Given the description of an element on the screen output the (x, y) to click on. 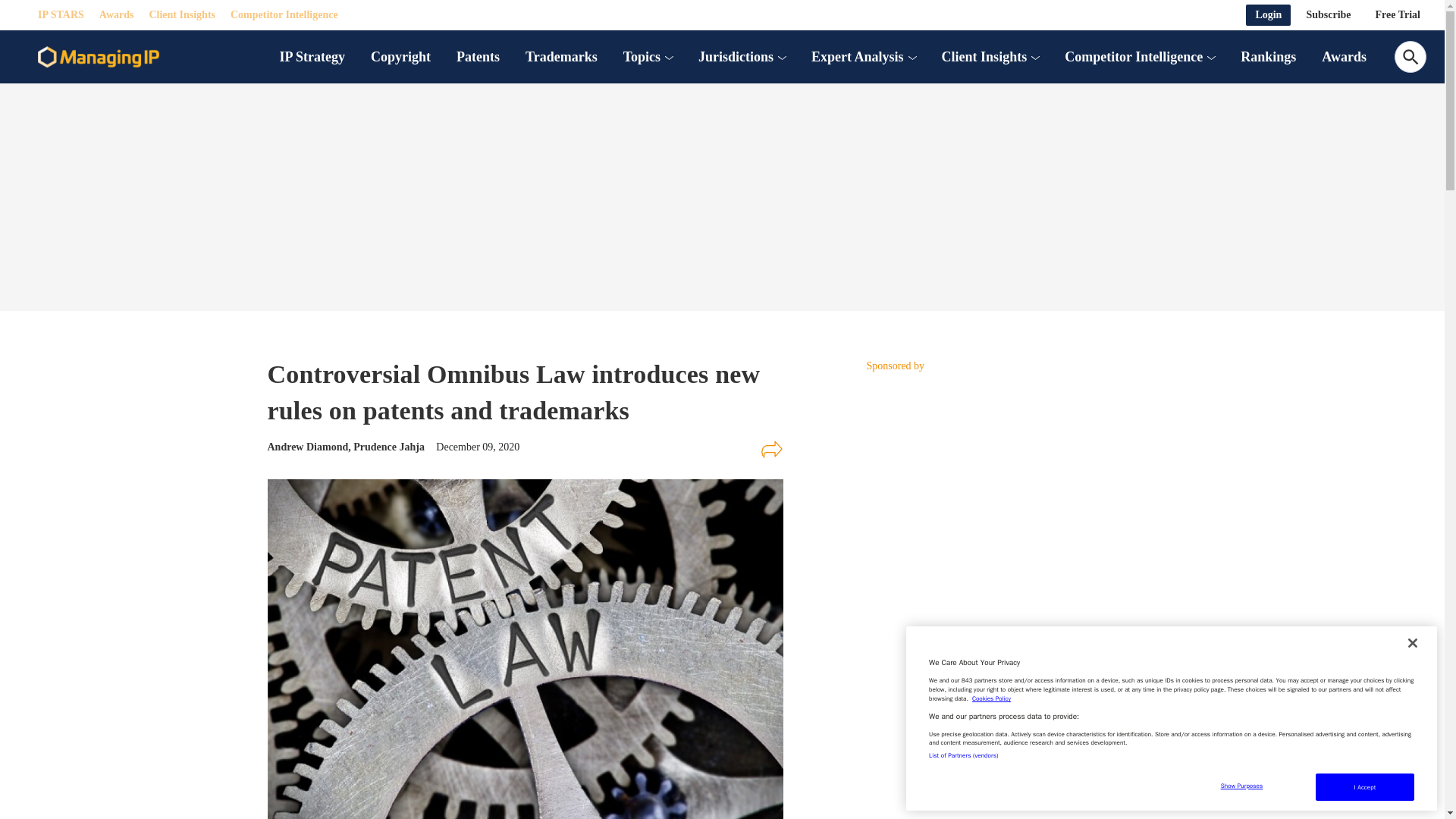
Share (771, 449)
Competitor Intelligence (283, 14)
Awards (116, 14)
Trademarks (560, 56)
Copyright (400, 56)
Login (1268, 14)
IP Strategy (312, 56)
Free Trial (1398, 14)
Patents (478, 56)
